Given the description of an element on the screen output the (x, y) to click on. 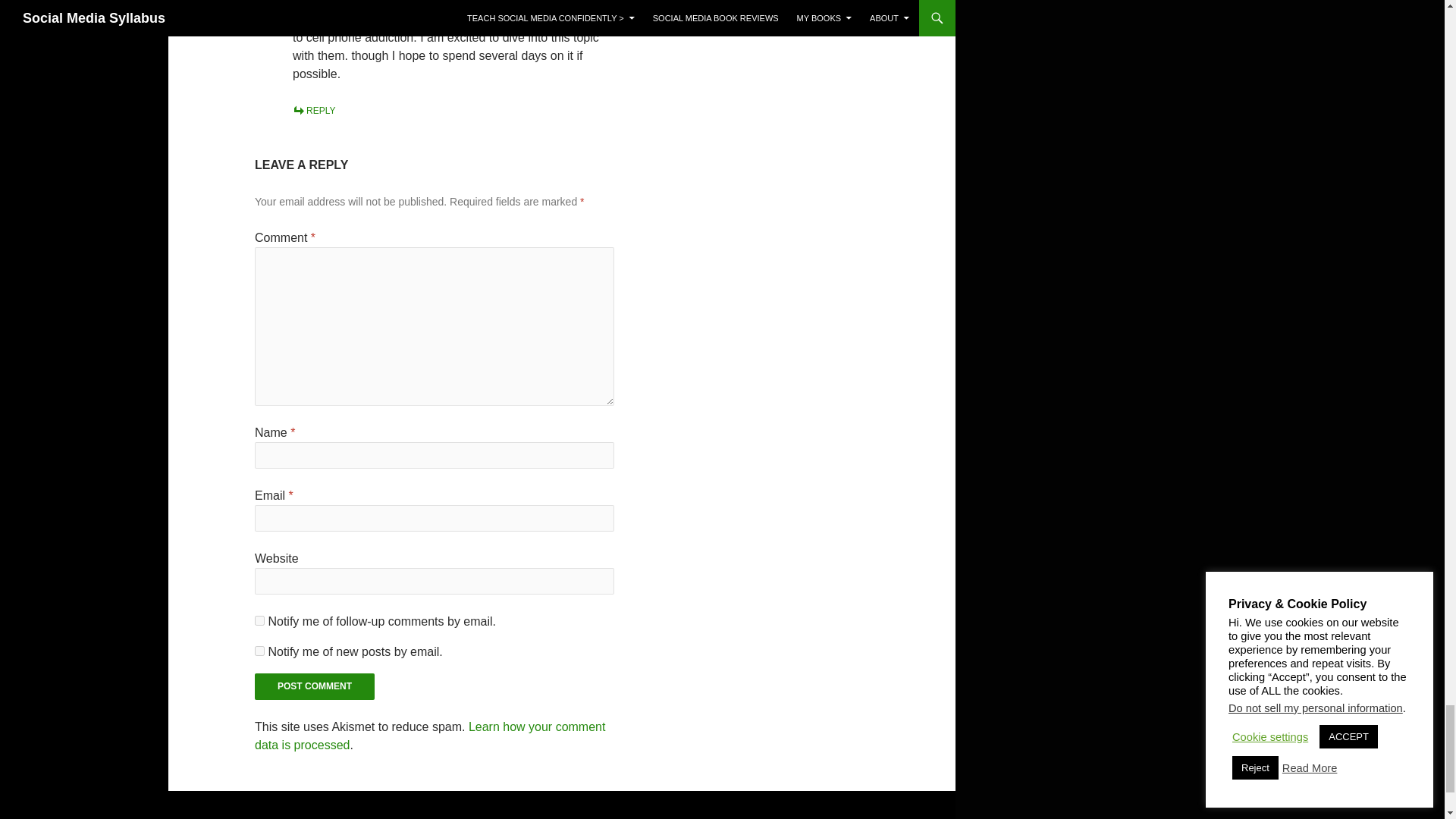
subscribe (259, 620)
Post Comment (314, 686)
subscribe (259, 651)
